Given the description of an element on the screen output the (x, y) to click on. 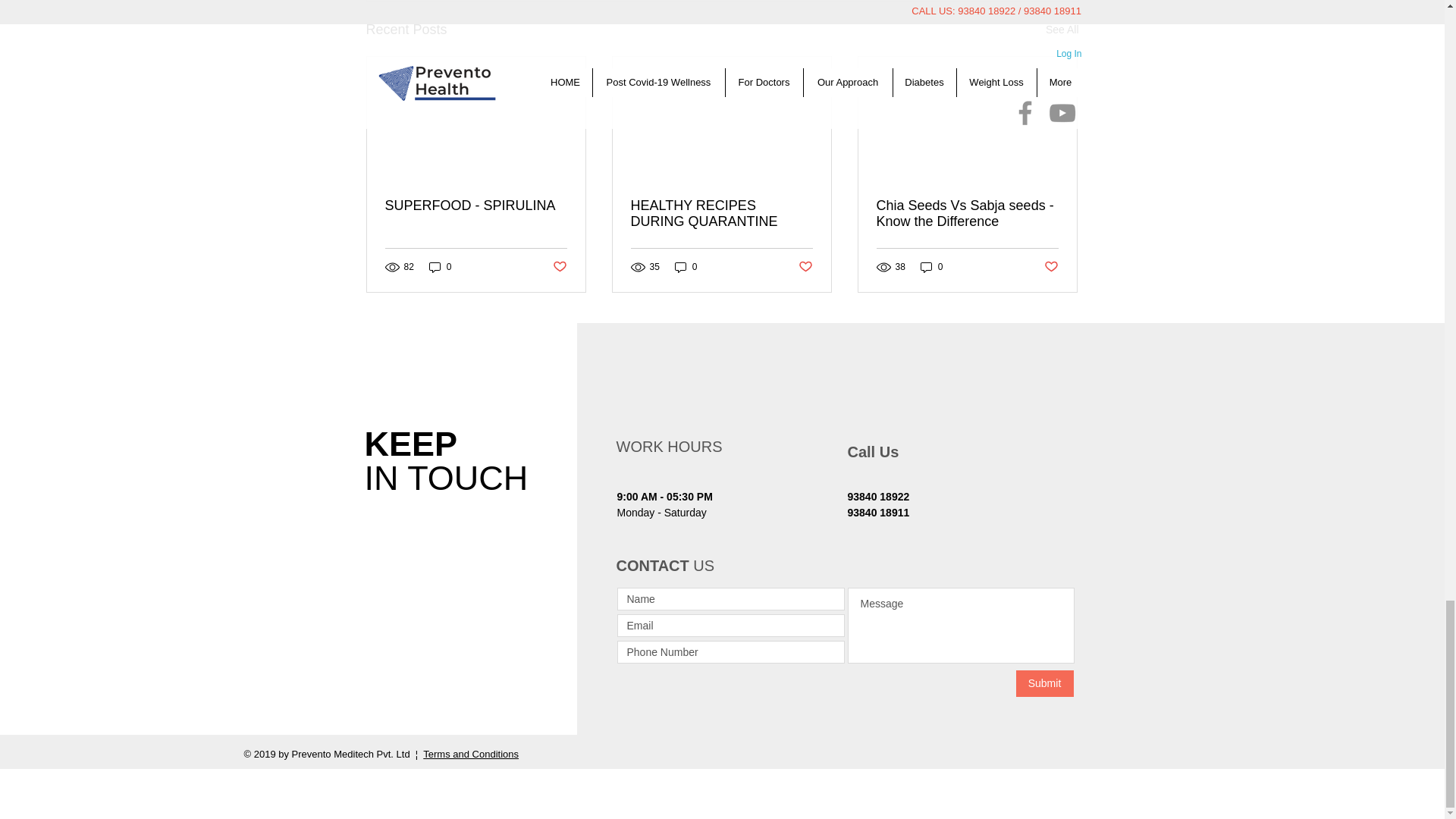
See All (1061, 29)
SUPERFOOD - SPIRULINA (476, 205)
